Given the description of an element on the screen output the (x, y) to click on. 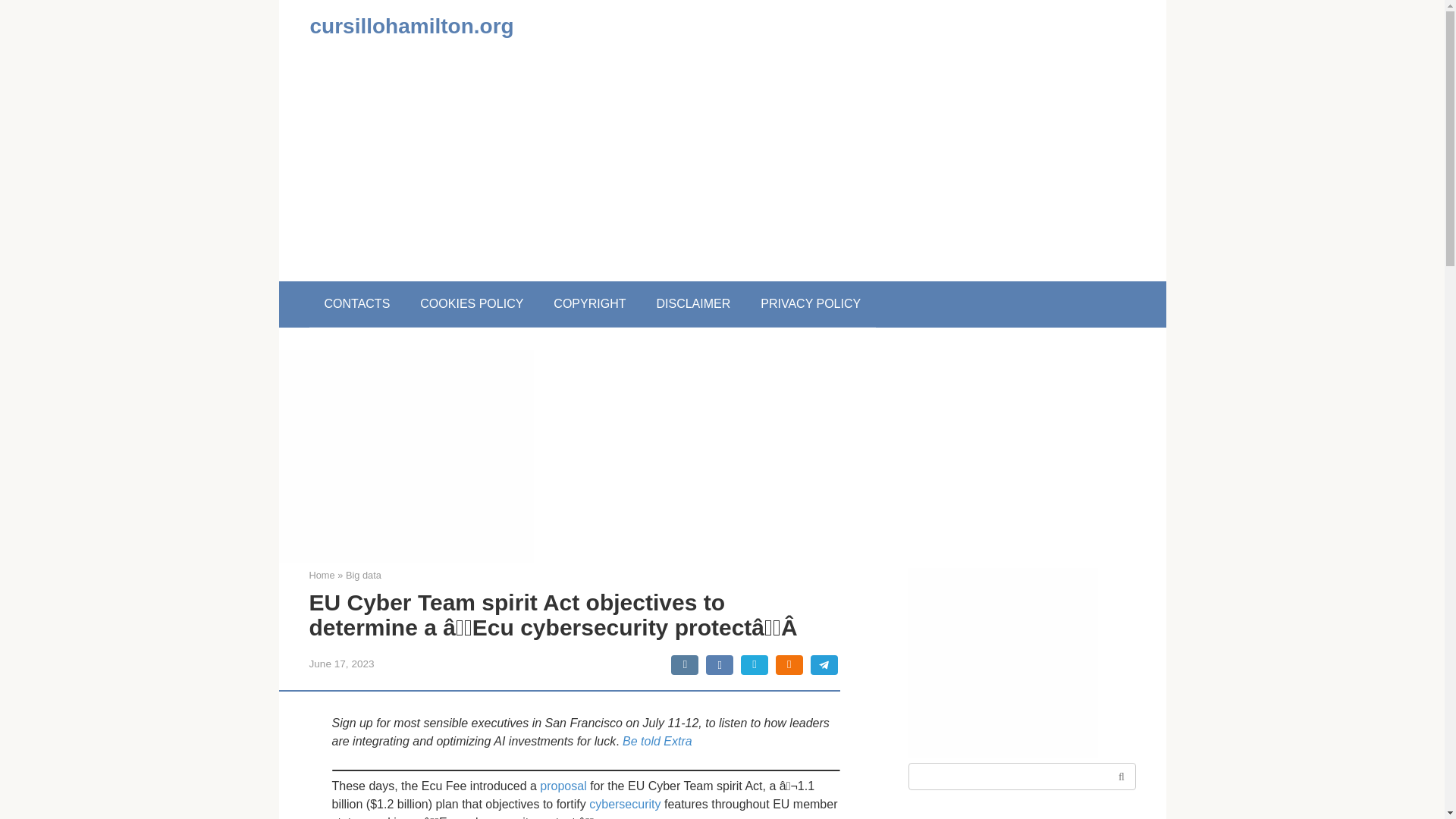
cursillohamilton.org (410, 25)
COOKIES POLICY (471, 303)
proposal (563, 785)
Big data (363, 574)
PRIVACY POLICY (810, 303)
cybersecurity (625, 803)
DISCLAIMER (692, 303)
CONTACTS (357, 303)
Be told Extra (658, 740)
Home (321, 574)
COPYRIGHT (589, 303)
